Given the description of an element on the screen output the (x, y) to click on. 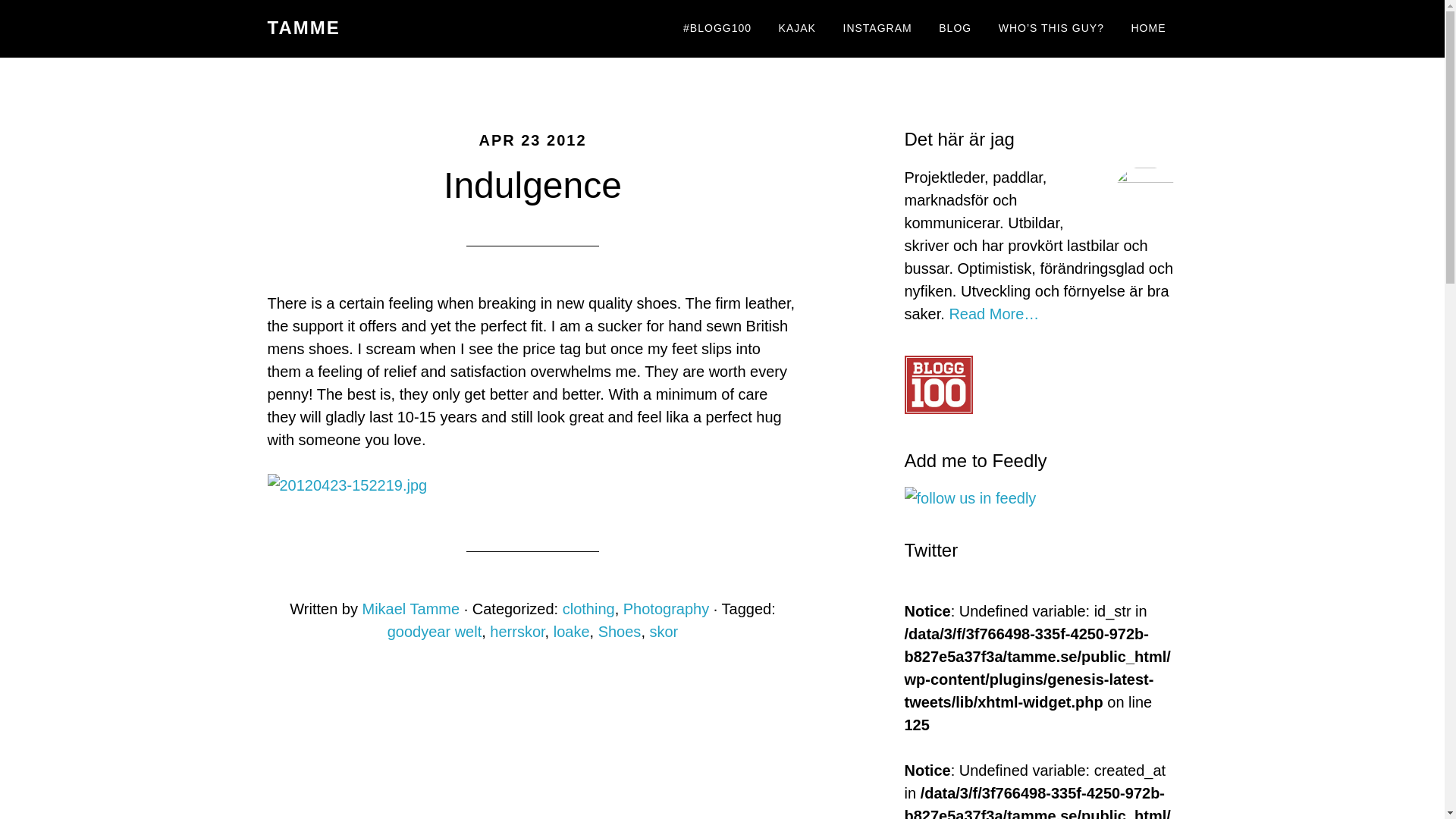
BLOG (954, 28)
HOME (1147, 28)
Indulgence (532, 185)
clothing (588, 608)
loake (571, 631)
TAMME (302, 27)
goodyear welt (434, 631)
Mikael Tamme (411, 608)
herrskor (516, 631)
KAJAK (797, 28)
